Given the description of an element on the screen output the (x, y) to click on. 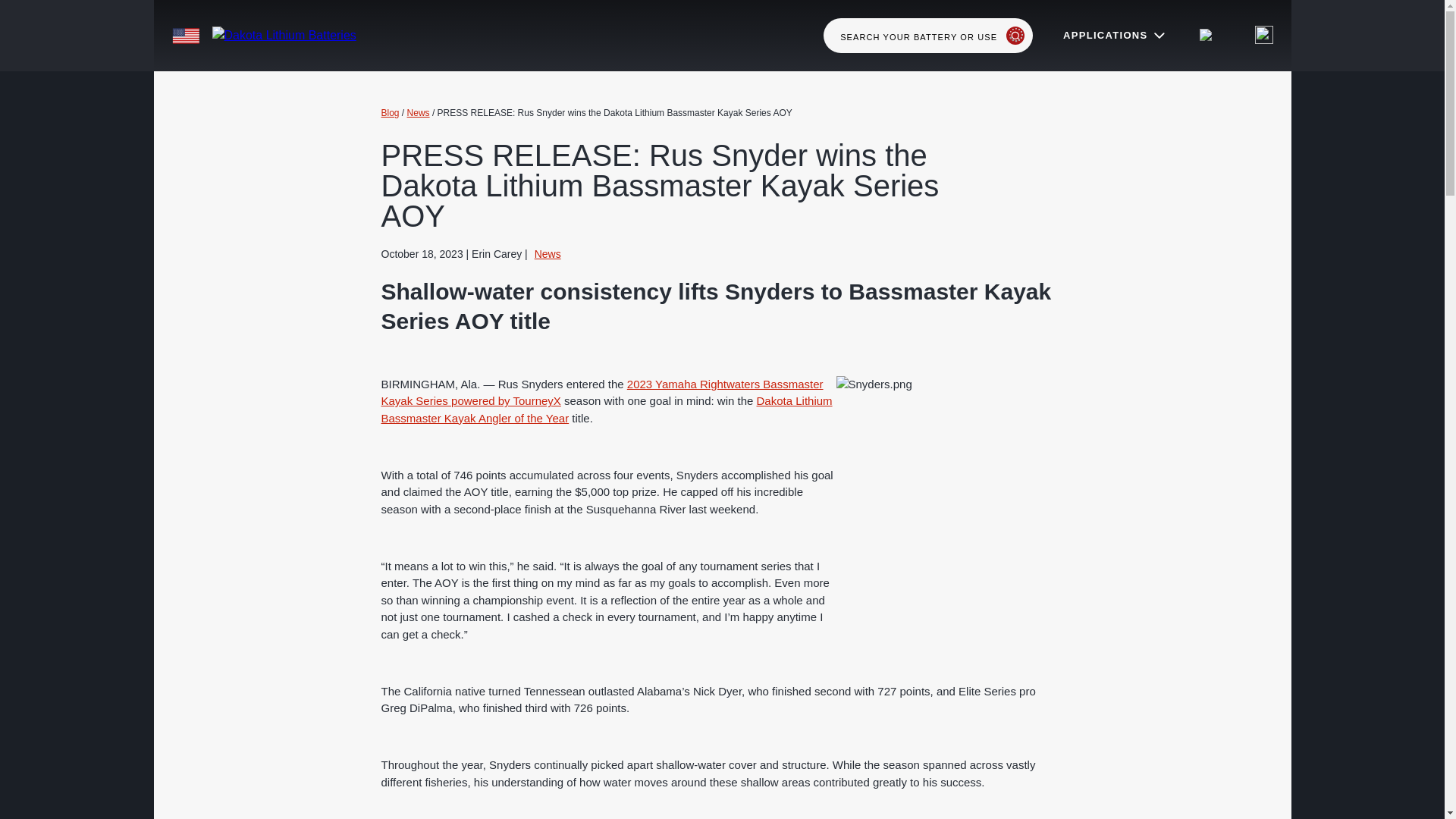
SEARCH YOUR BATTERY OR USE (928, 35)
Go to Blog. (389, 112)
Dakota Lithium Batteries (329, 35)
Go to the News category archives. (418, 112)
